Given the description of an element on the screen output the (x, y) to click on. 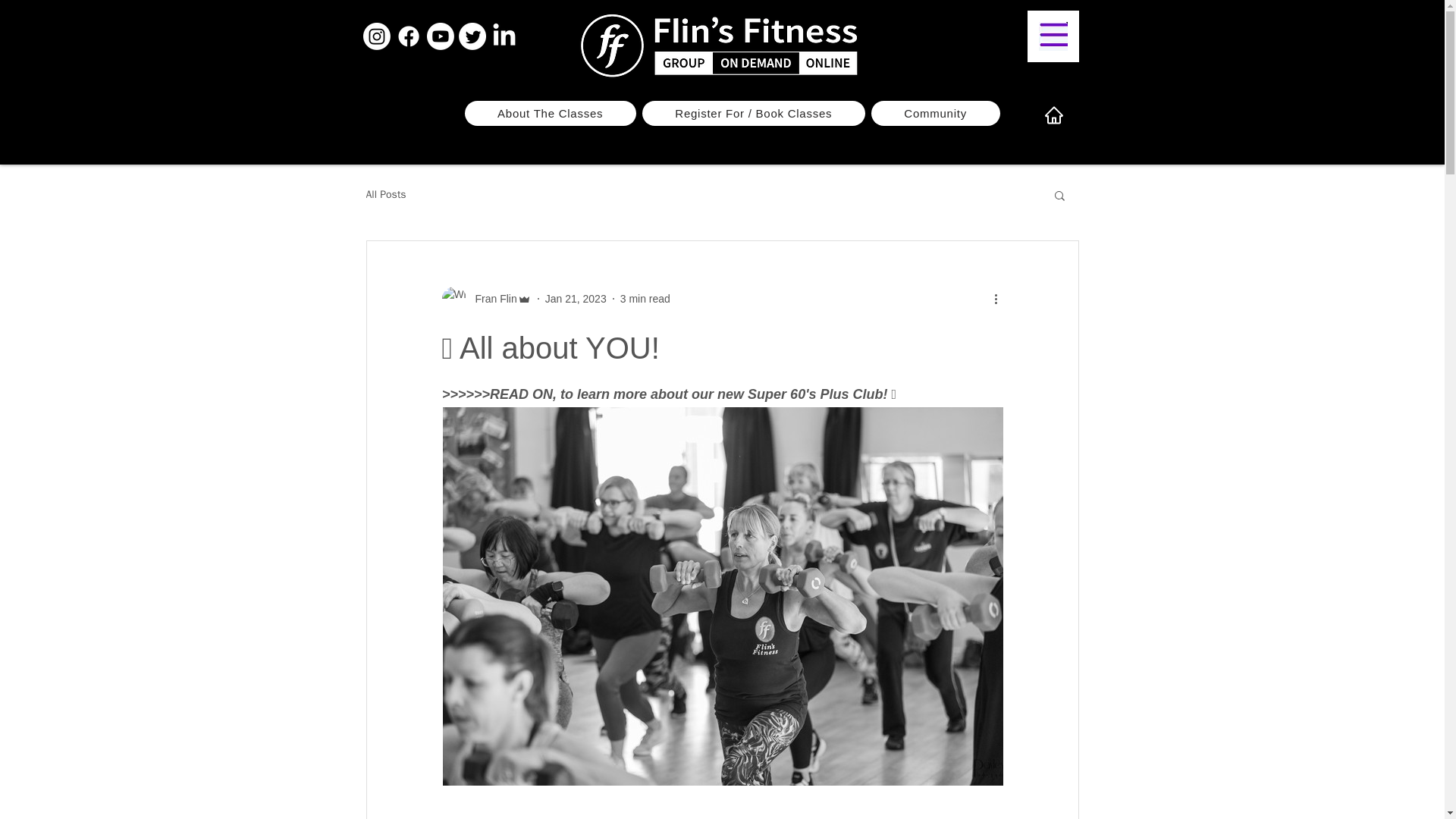
Jan 21, 2023 (575, 298)
3 min read (644, 298)
All Posts (385, 194)
Fran Flin (486, 298)
Fran Flin (490, 299)
About The Classes (549, 113)
